Given the description of an element on the screen output the (x, y) to click on. 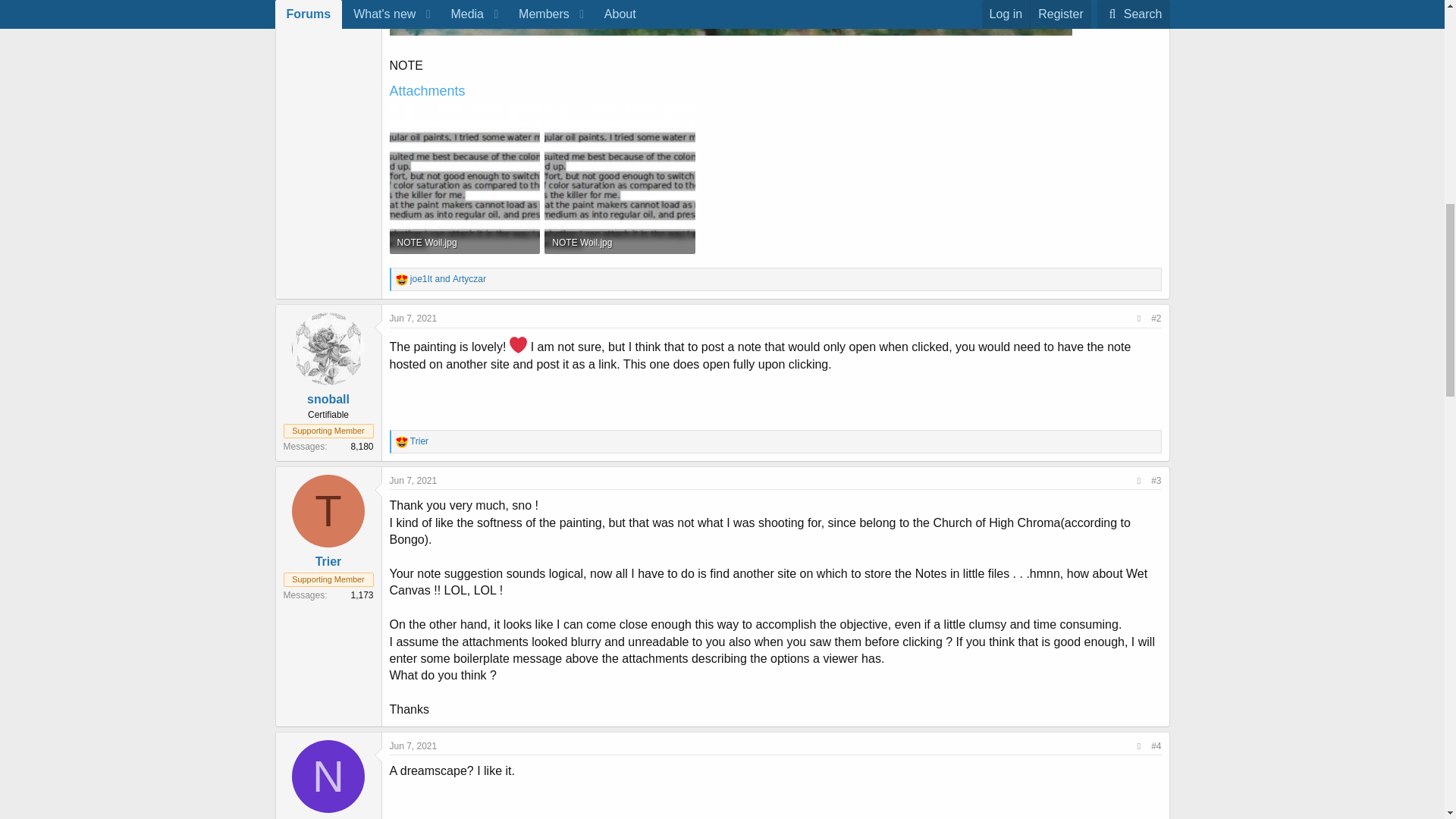
Love (401, 441)
DSCN0217wOilRoseRdM1.JPG (730, 20)
NOTE Woil.jpg (619, 241)
DSCN0217wOilRoseRdM1.JPG (730, 18)
Jun 7, 2021 at 3:54 PM (414, 480)
Love (401, 279)
Red heart    :heart: (518, 343)
Jun 7, 2021 at 3:22 PM (414, 317)
Jun 7, 2021 at 5:00 PM (414, 745)
NOTE Woil.jpg (464, 241)
